Given the description of an element on the screen output the (x, y) to click on. 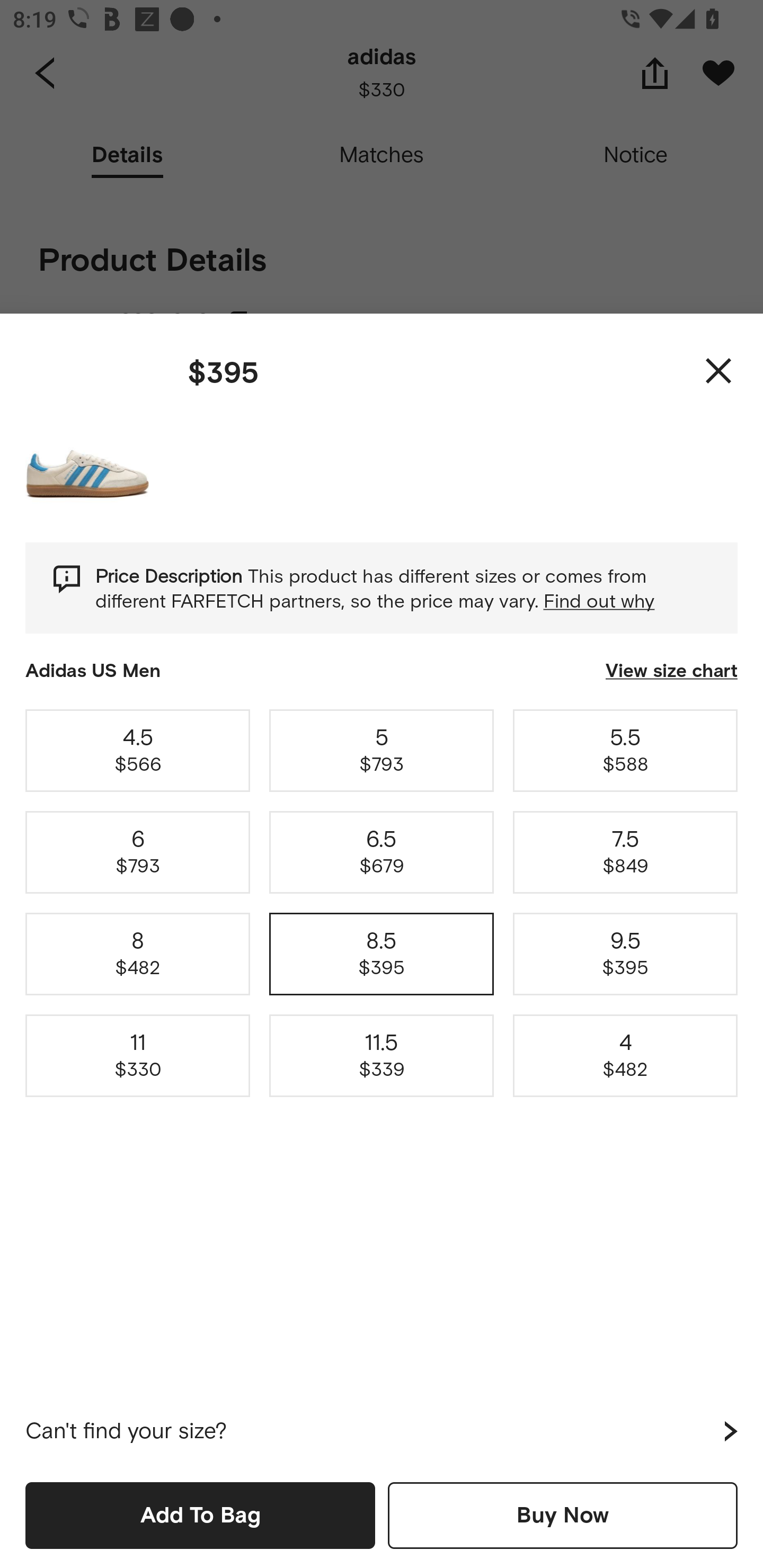
4.5 $566 (137, 749)
5 $793 (381, 749)
5.5 $588 (624, 749)
6 $793 (137, 851)
6.5 $679 (381, 851)
7.5 $849 (624, 851)
8 $482 (137, 953)
8.5 $395 (381, 953)
9.5 $395 (624, 953)
11 $330 (137, 1055)
11.5 $339 (381, 1055)
4 $482 (624, 1055)
Can't find your size? (381, 1431)
Add To Bag (200, 1515)
Buy Now (562, 1515)
